Given the description of an element on the screen output the (x, y) to click on. 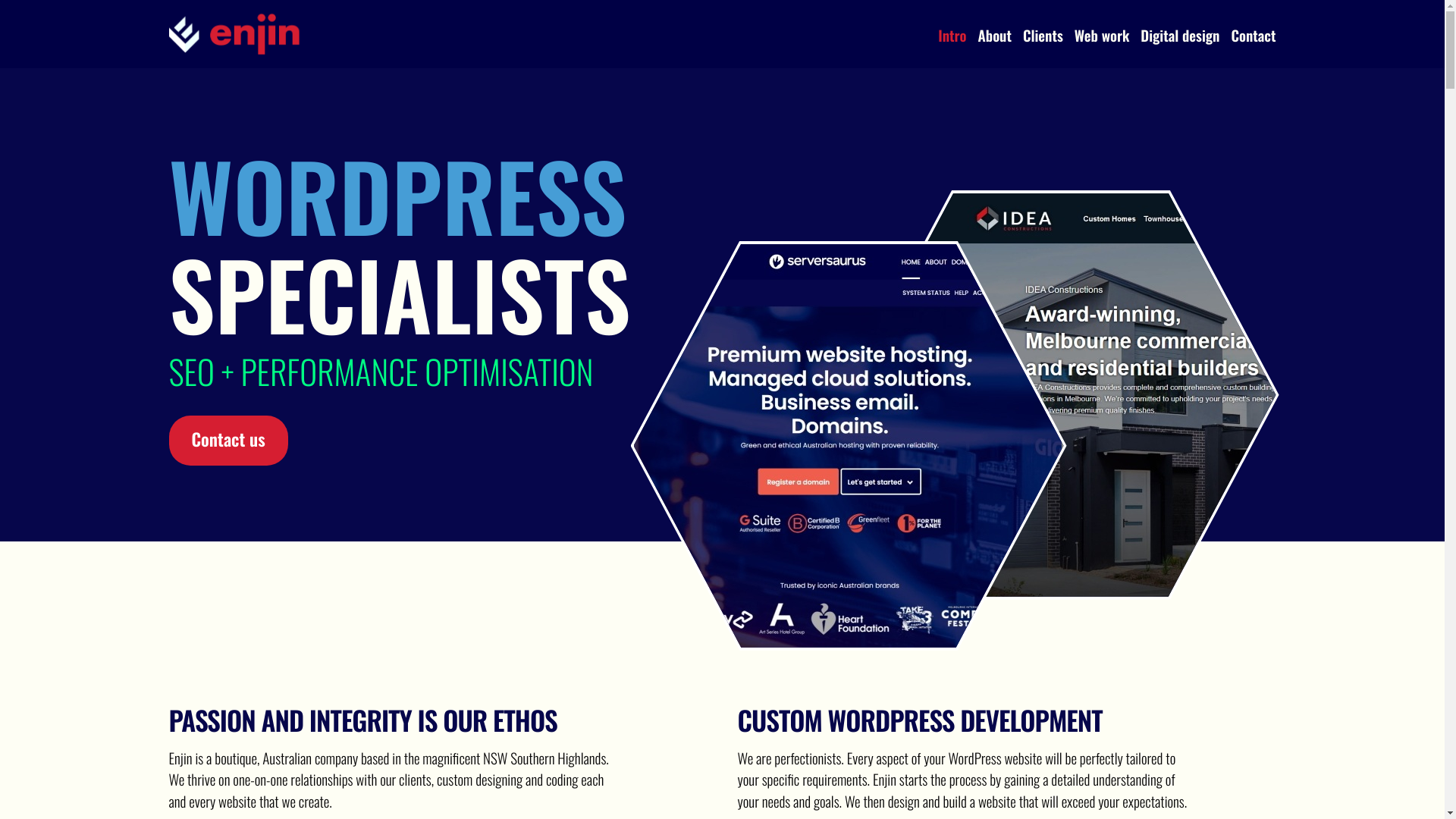
Intro Element type: text (952, 35)
Contact Element type: text (1252, 35)
About Element type: text (994, 35)
Web work Element type: text (1101, 35)
Digital design Element type: text (1179, 35)
Contact us Element type: text (227, 440)
Clients Element type: text (1042, 35)
